Given the description of an element on the screen output the (x, y) to click on. 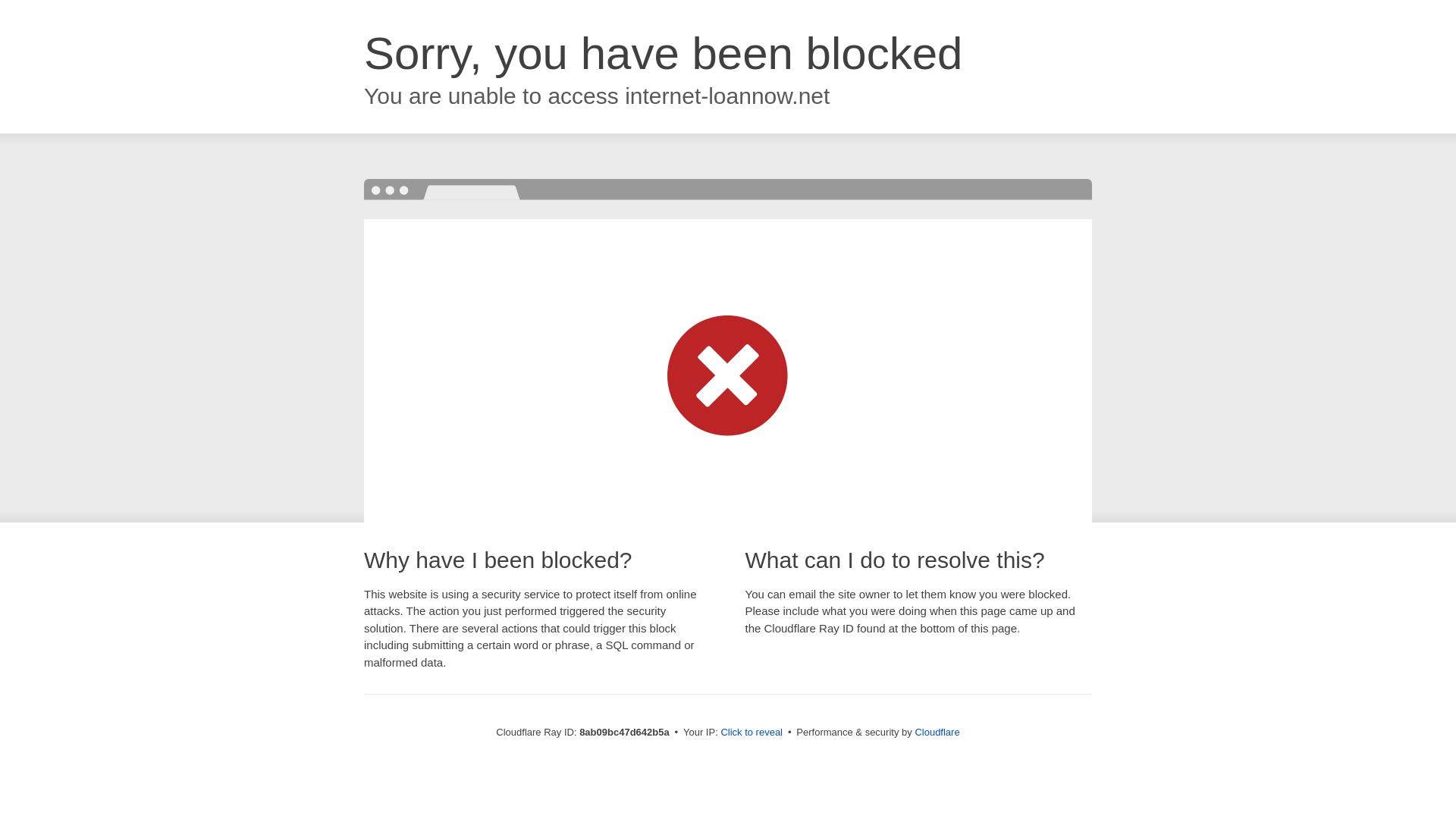
Cloudflare (936, 731)
Click to reveal (751, 732)
